Given the description of an element on the screen output the (x, y) to click on. 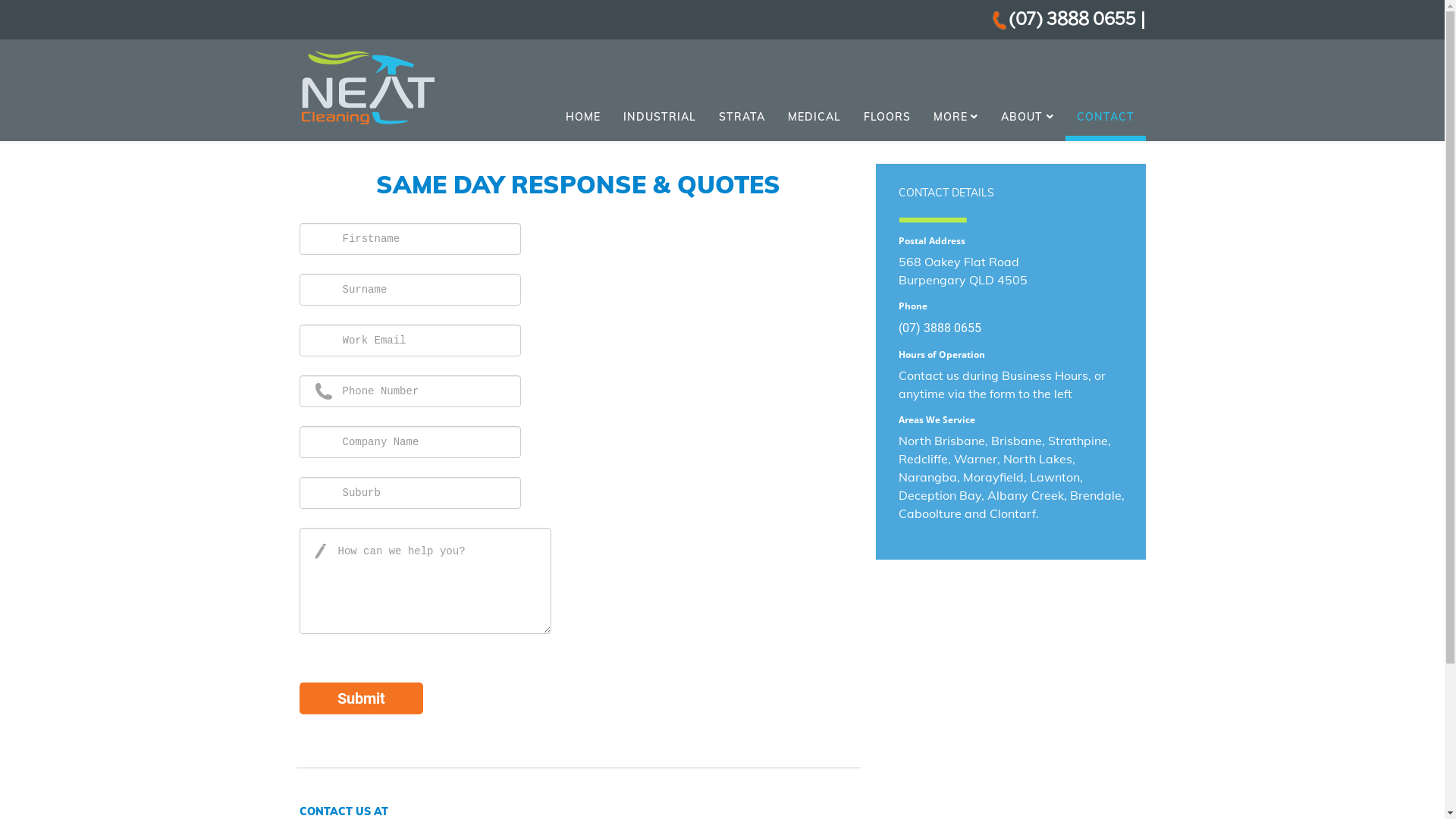
CONTACT Element type: text (1104, 119)
(07) 3888 0655 Element type: text (938, 327)
MEDICAL Element type: text (814, 116)
FLOORS Element type: text (887, 116)
ABOUT Element type: text (1027, 116)
INDUSTRIAL Element type: text (658, 116)
MORE Element type: text (956, 116)
STRATA Element type: text (740, 116)
Submit Element type: text (360, 698)
(07) 3888 0655 Element type: text (1073, 20)
HOME Element type: text (582, 116)
